Given the description of an element on the screen output the (x, y) to click on. 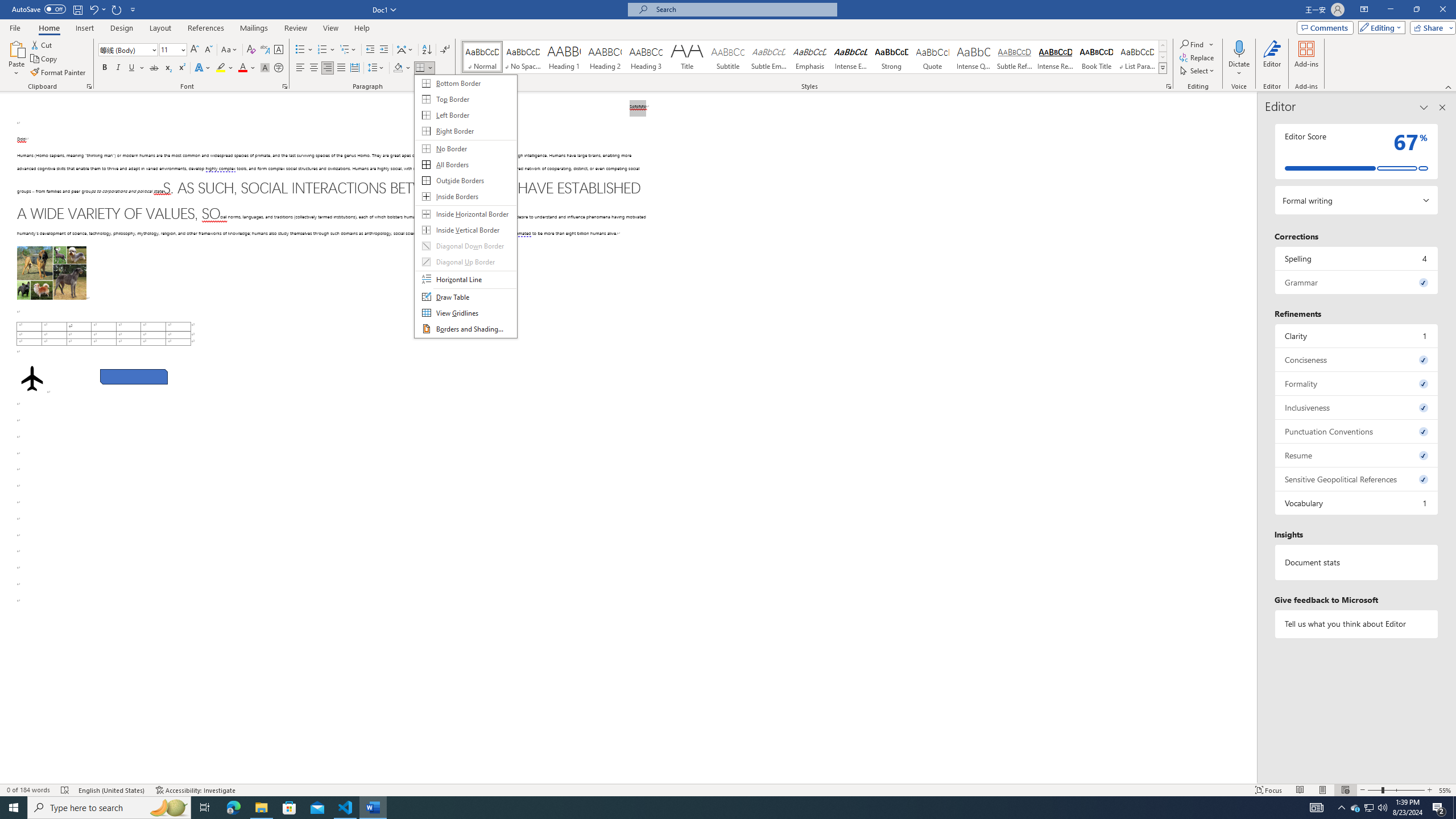
Subtle Reference (1014, 56)
Intense Reference (1055, 56)
Repeat Paragraph Alignment (117, 9)
Book Title (1095, 56)
Subscript (167, 67)
Distributed (354, 67)
Italic (118, 67)
System (6, 6)
Dictate (1238, 48)
AutomationID: 4105 (1316, 807)
Web Layout (1344, 790)
Accessibility Checker Accessibility: Investigate (195, 790)
Clear Formatting (250, 49)
Quick Access Toolbar (74, 9)
